Given the description of an element on the screen output the (x, y) to click on. 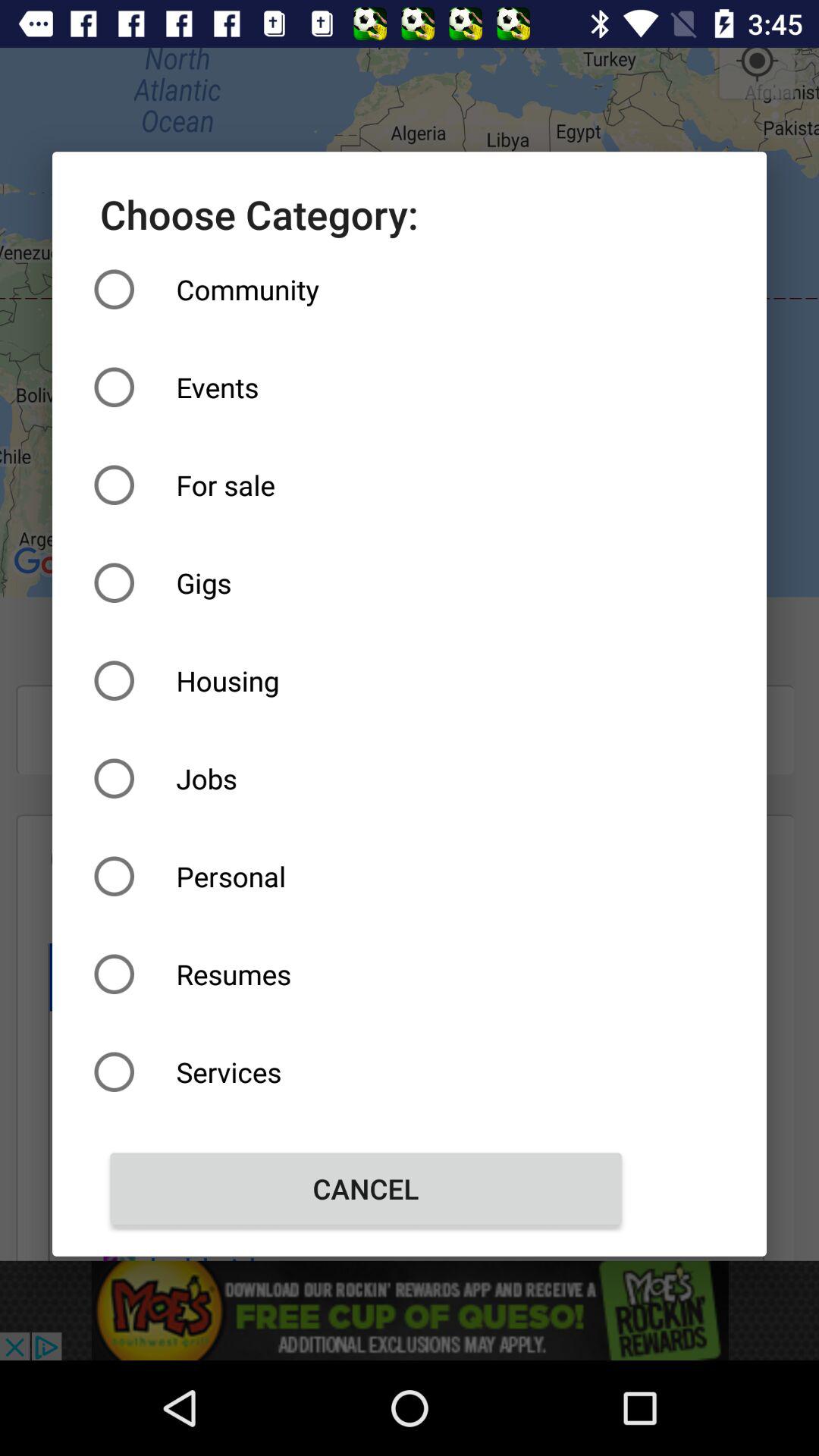
open the icon below the gigs icon (365, 680)
